Given the description of an element on the screen output the (x, y) to click on. 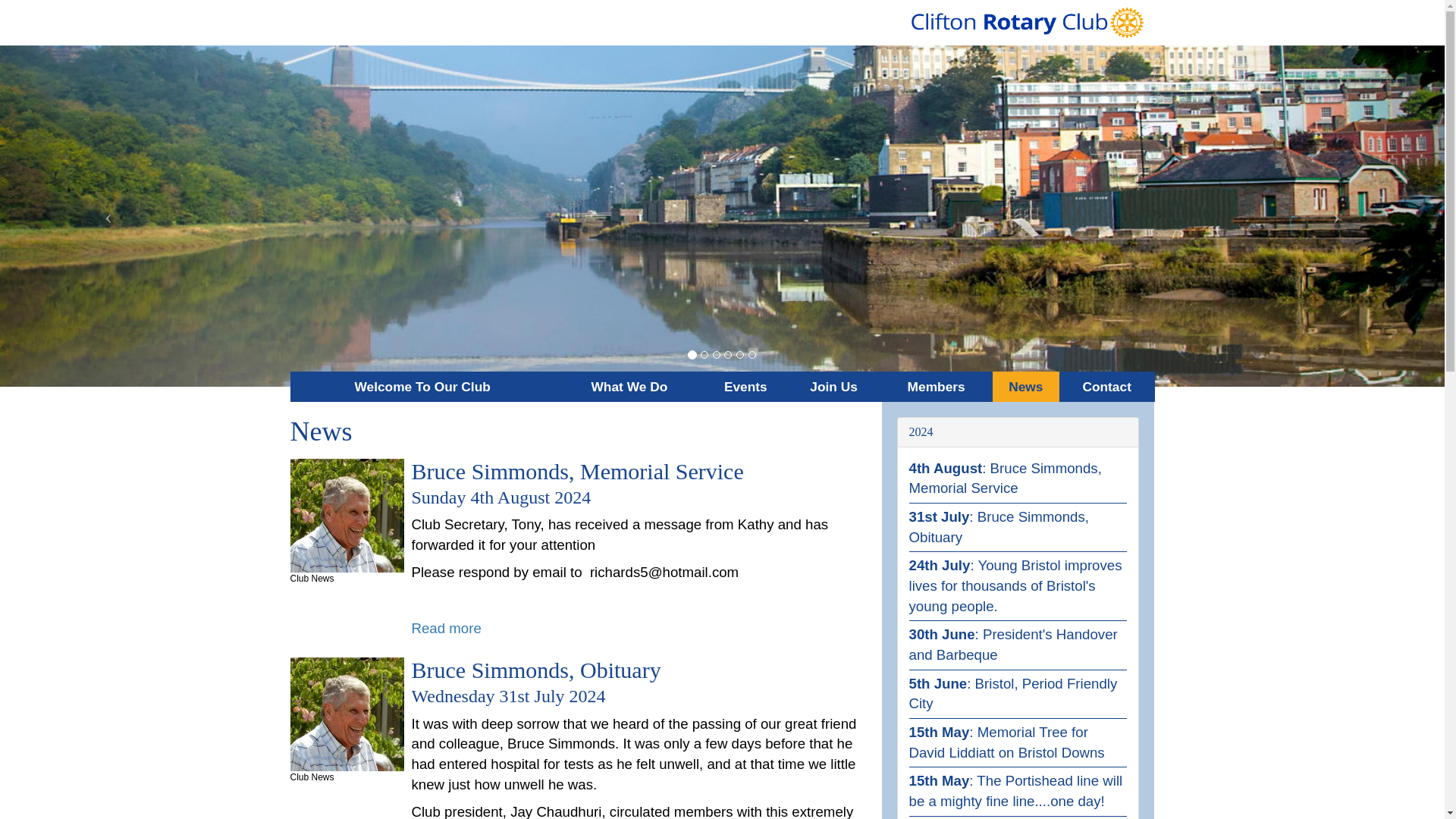
2024 (920, 431)
5th June: Bristol, Period Friendly City (1012, 693)
Contact (1106, 386)
Welcome To Our Club (421, 386)
30th June: President's Handover and Barbeque (1012, 644)
What We Do (628, 386)
News (1025, 386)
4th August: Bruce Simmonds, Memorial Service (1004, 478)
Join Us (833, 386)
Members (936, 386)
15th May: Memorial Tree for David Liddiatt on Bristol Downs (1005, 741)
31st July: Bruce Simmonds, Obituary (997, 526)
Read more (445, 627)
